Given the description of an element on the screen output the (x, y) to click on. 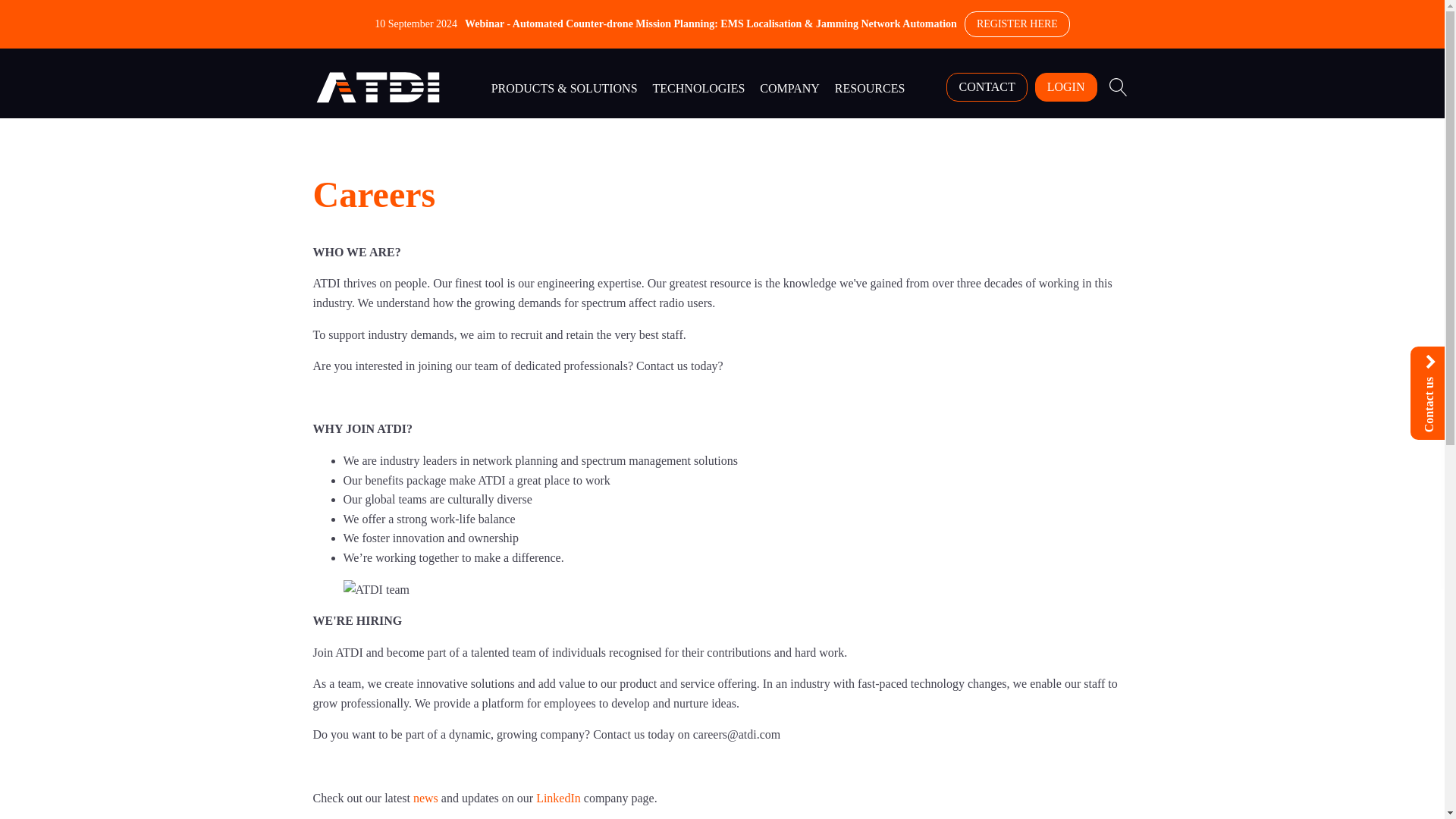
CONTACT (986, 86)
TECHNOLOGIES (698, 86)
REGISTER HERE (1016, 23)
COMPANY (789, 87)
RESOURCES (869, 87)
LOGIN (1066, 86)
Search (25, 9)
LinkedIn (557, 797)
news (425, 797)
